Given the description of an element on the screen output the (x, y) to click on. 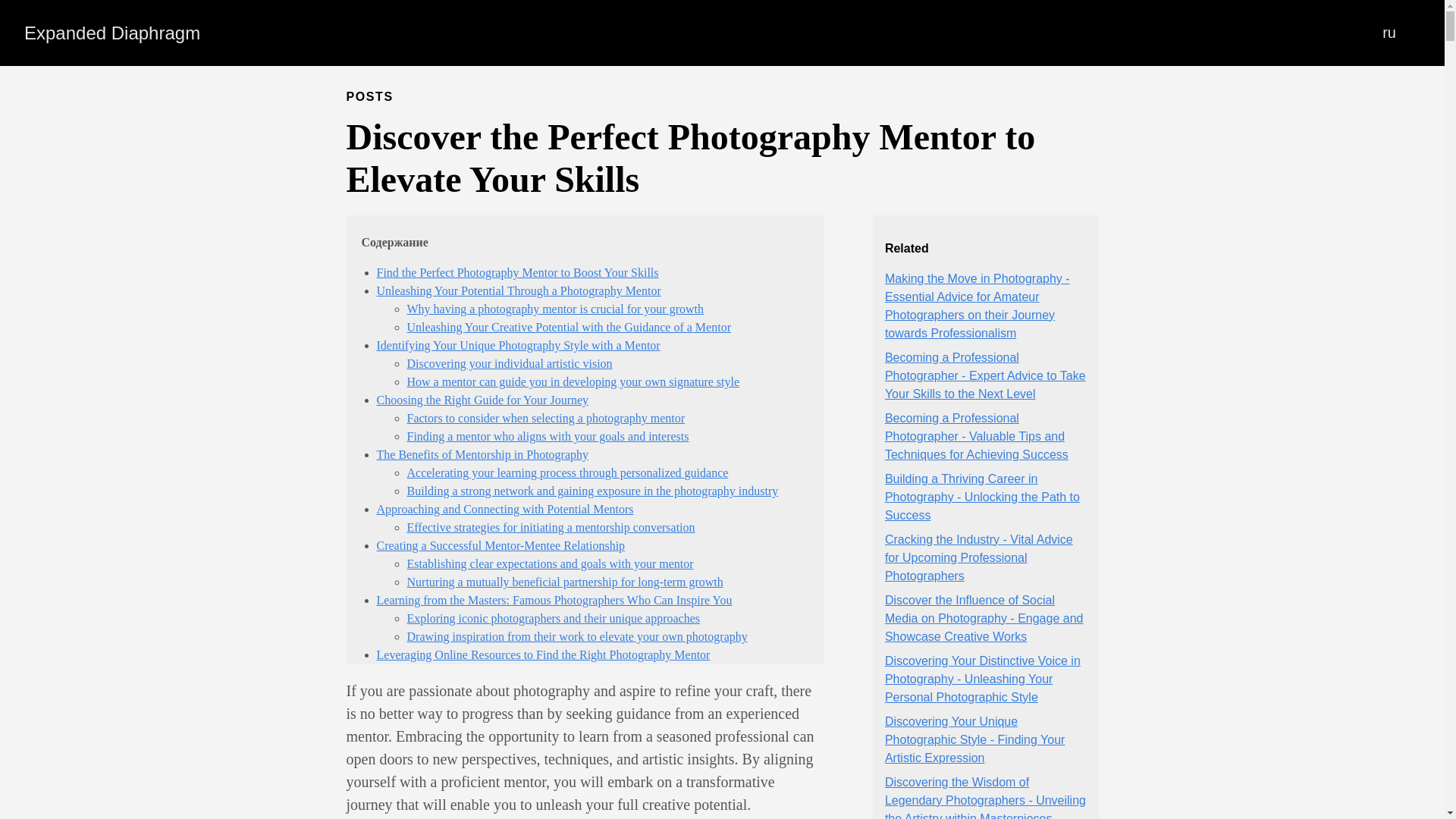
Identifying Your Unique Photography Style with a Mentor (517, 345)
Factors to consider when selecting a photography mentor (545, 418)
Why having a photography mentor is crucial for your growth (554, 308)
Find the Perfect Photography Mentor to Boost Your Skills (516, 272)
Exploring iconic photographers and their unique approaches (553, 617)
Expanded Diaphragm (112, 33)
The Benefits of Mentorship in Photography (481, 454)
